Given the description of an element on the screen output the (x, y) to click on. 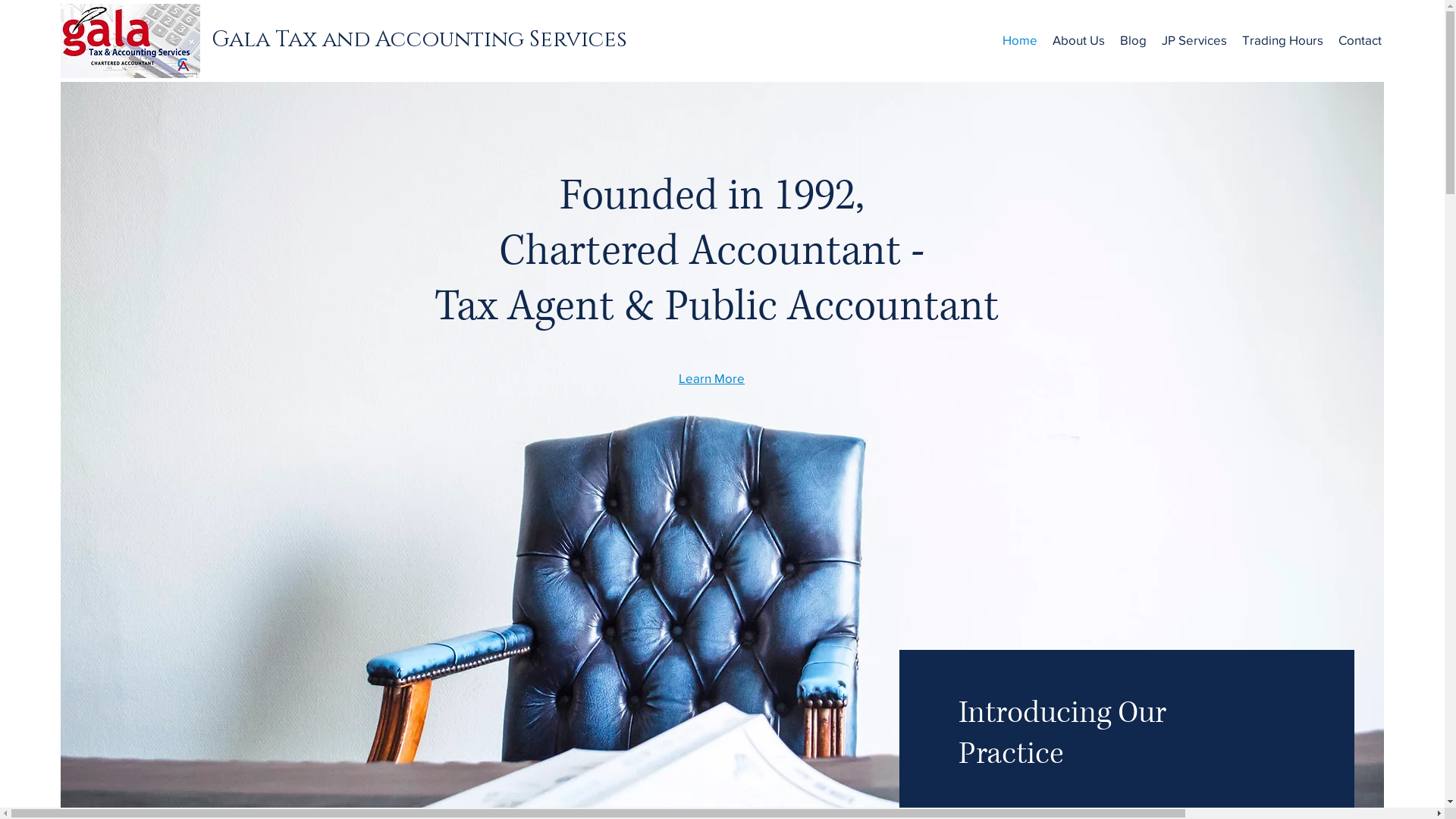
Home Element type: text (1019, 39)
Trading Hours Element type: text (1282, 39)
Learn More Element type: text (711, 377)
About Us Element type: text (1078, 39)
JP Services Element type: text (1194, 39)
Blog Element type: text (1133, 39)
Contact Element type: text (1359, 39)
Gala Tax and Accounting Services Element type: text (419, 40)
